Given the description of an element on the screen output the (x, y) to click on. 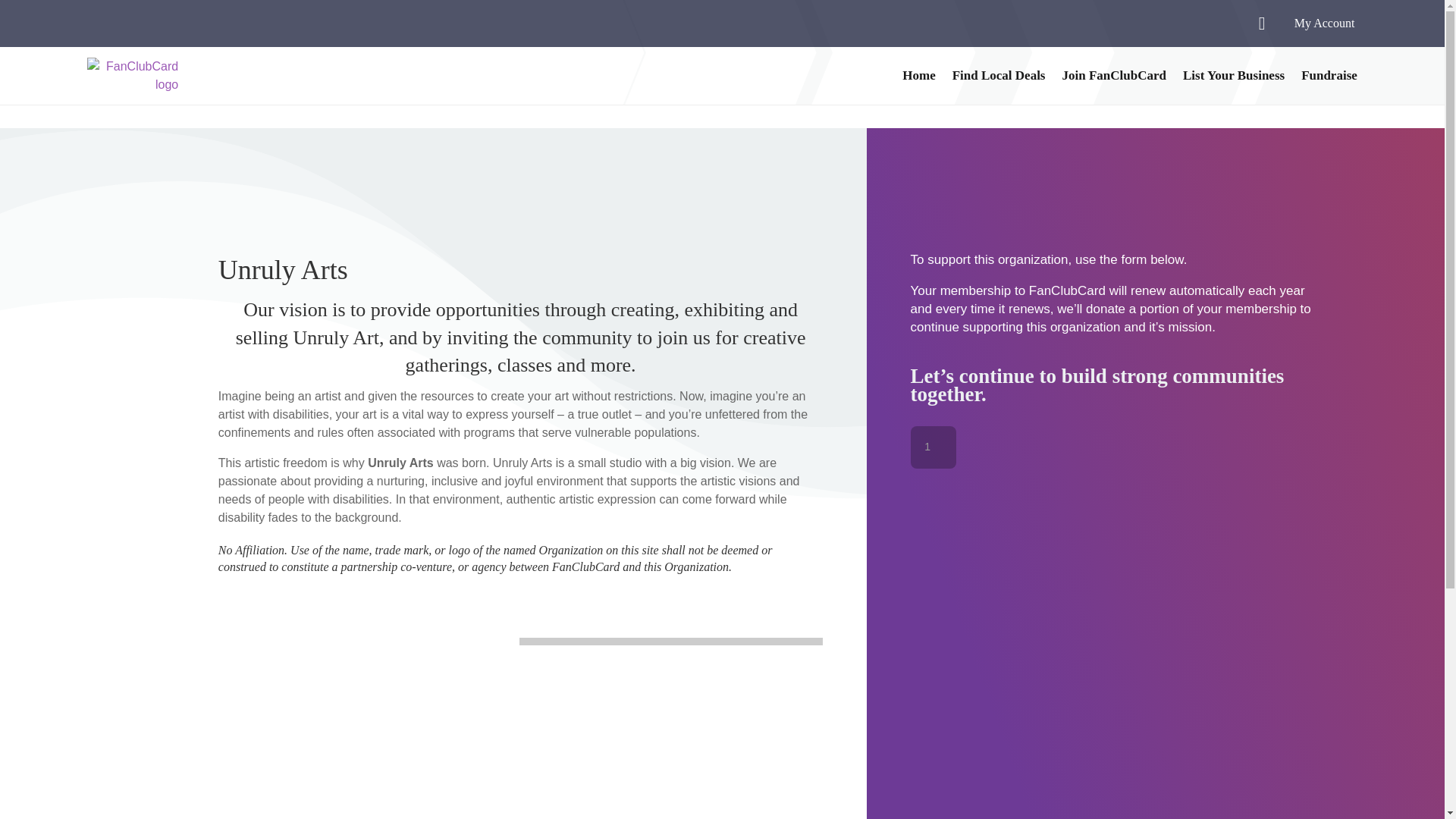
List Your Business (1233, 75)
Join FanClubCard (1113, 75)
Fundraise (1328, 75)
Find Local Deals (998, 75)
1234 (80, 20)
1 (933, 446)
